Given the description of an element on the screen output the (x, y) to click on. 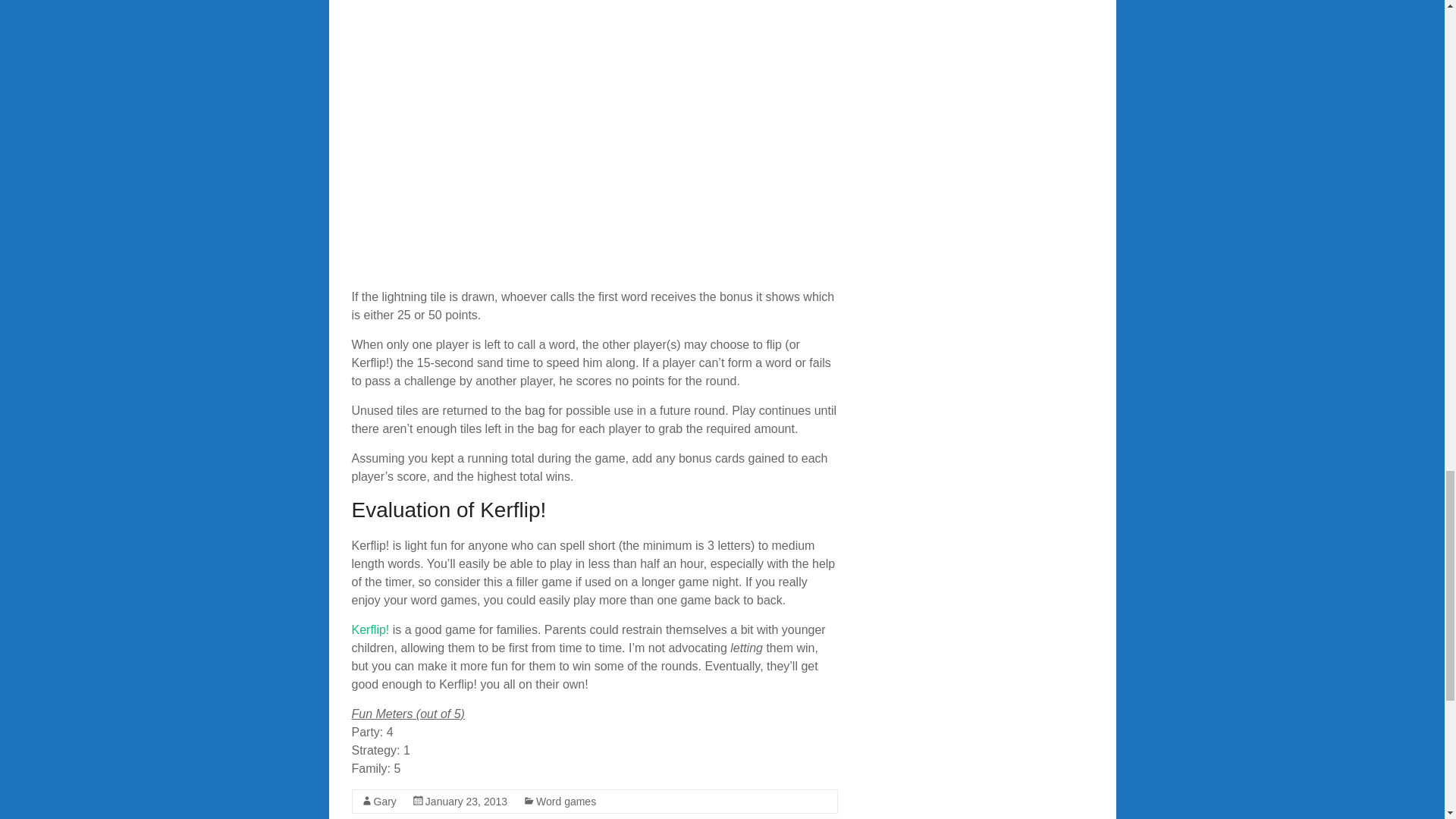
Word games (565, 801)
Kerflip! (371, 629)
11:12 pm (465, 801)
January 23, 2013 (465, 801)
Gary (384, 801)
